Given the description of an element on the screen output the (x, y) to click on. 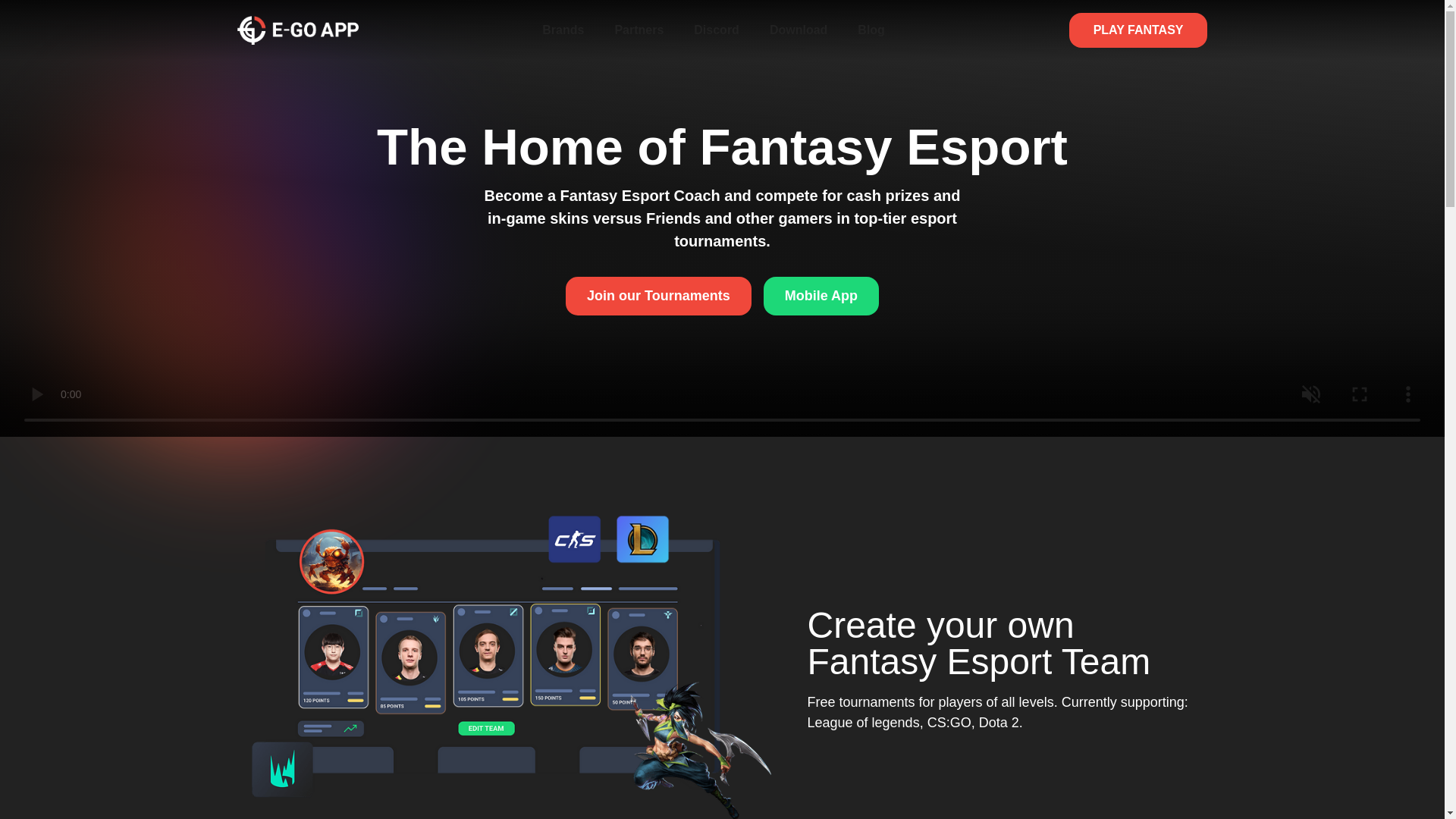
Partners (638, 29)
Blog (871, 29)
Join our Tournaments (658, 295)
Mobile App (820, 295)
PLAY FANTASY (1138, 30)
Download (798, 29)
Brands (562, 29)
Discord (716, 29)
